Given the description of an element on the screen output the (x, y) to click on. 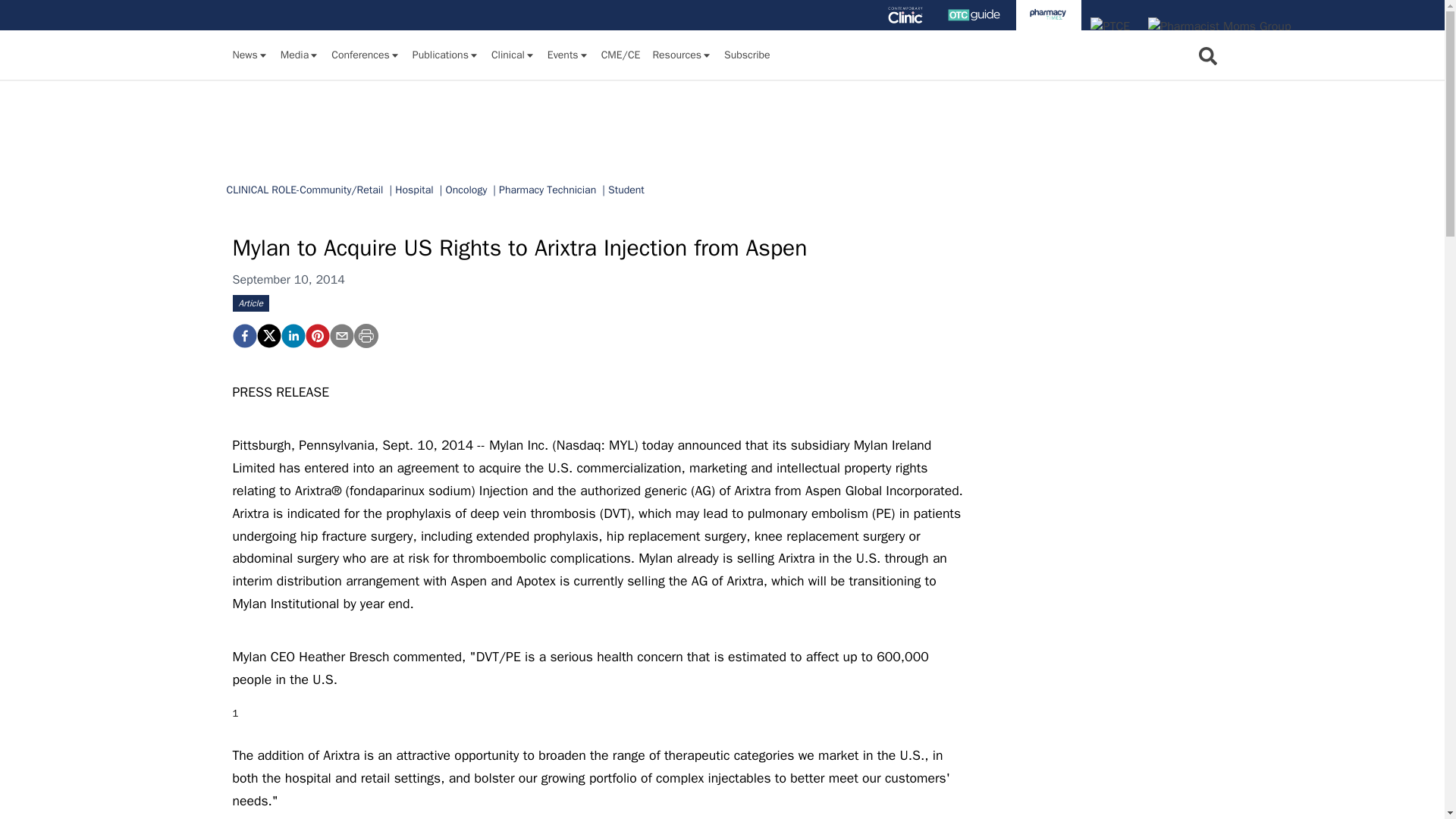
Mylan to Acquire US Rights to Arixtra Injection from Aspen (243, 335)
Mylan to Acquire US Rights to Arixtra Injection from Aspen (316, 335)
